Given the description of an element on the screen output the (x, y) to click on. 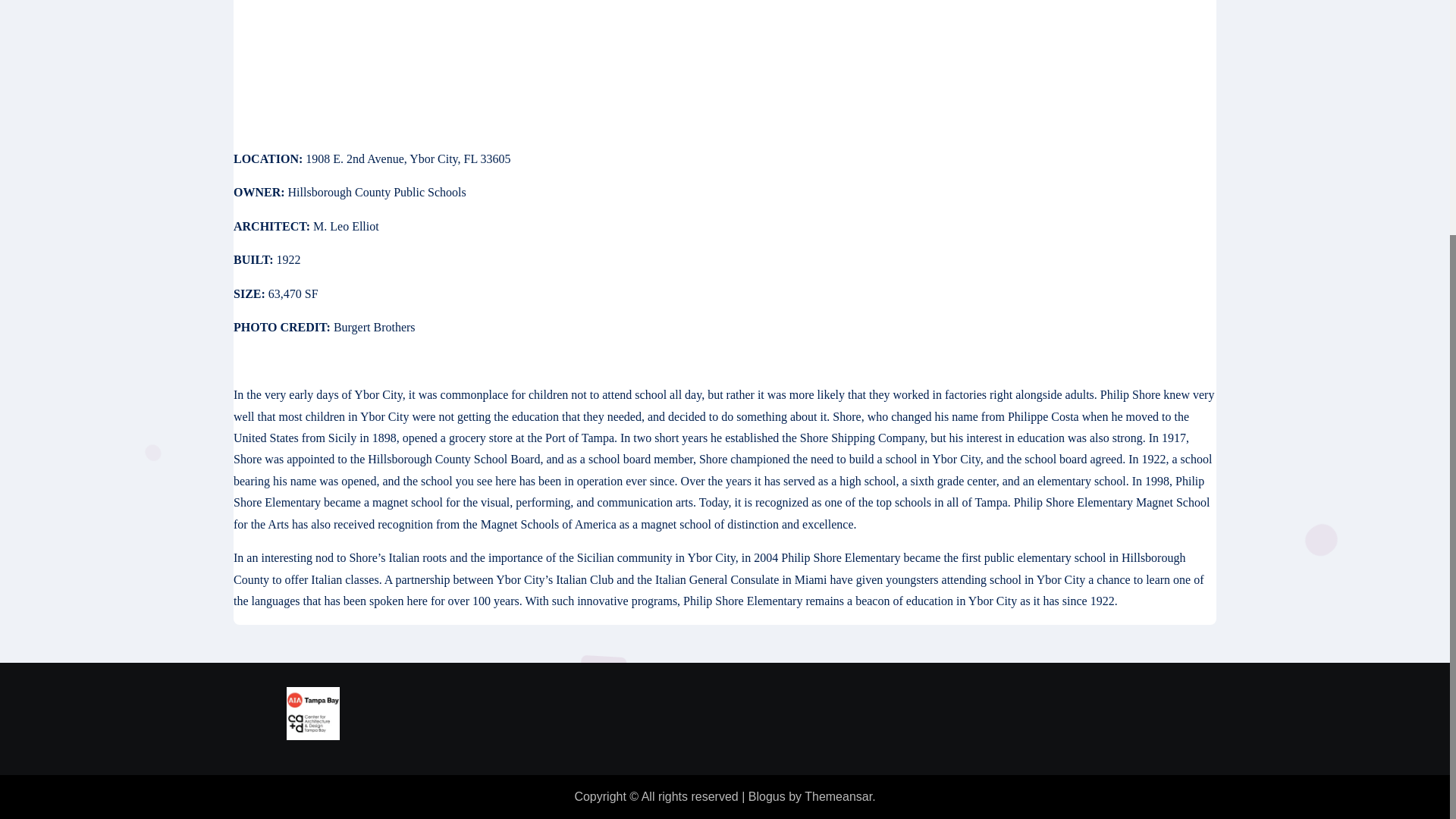
Themeansar (838, 796)
Blogus (767, 796)
Phil-Shore-Elementary (724, 57)
